Given the description of an element on the screen output the (x, y) to click on. 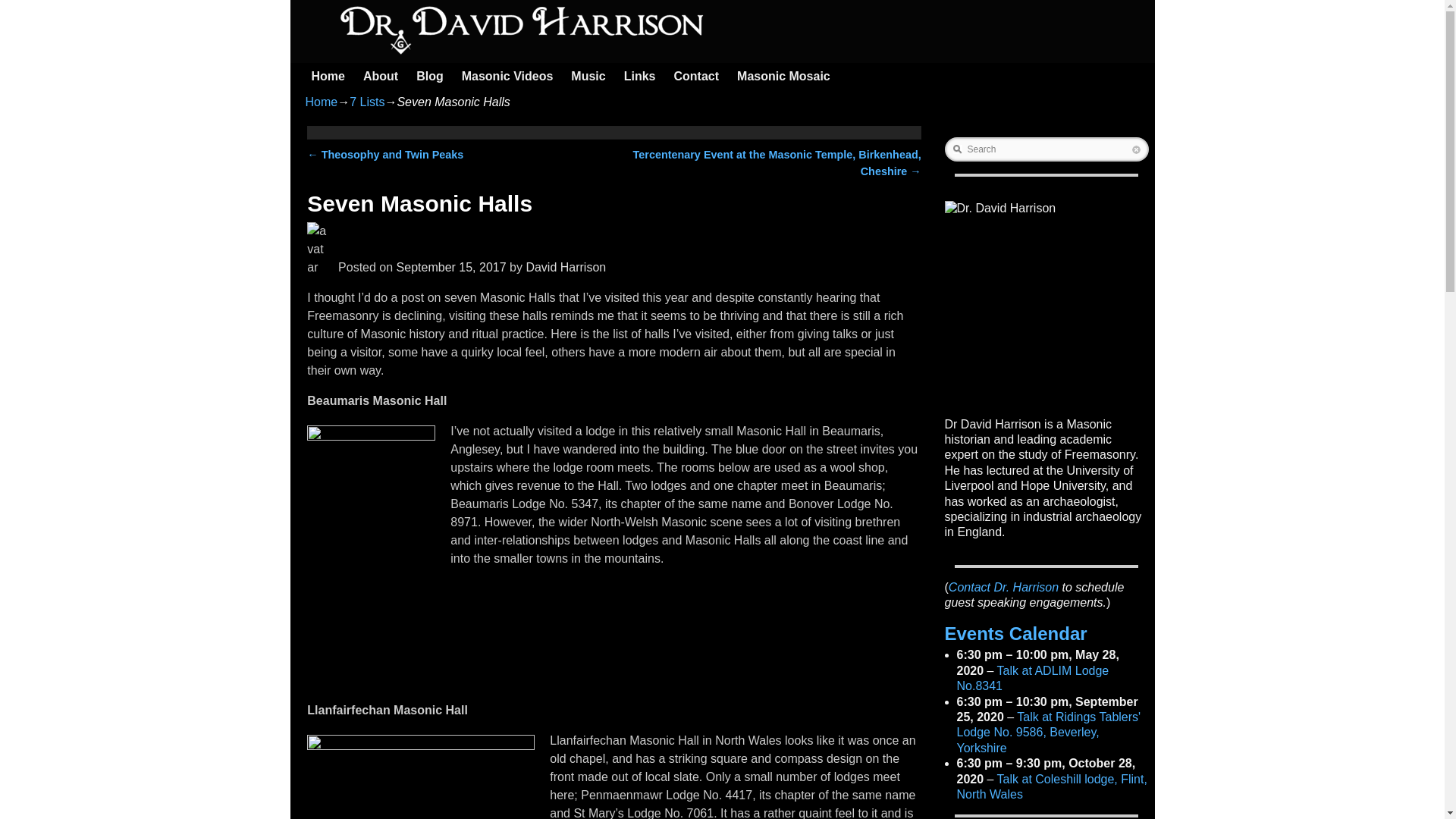
Home (327, 76)
Events Calendar (1015, 633)
Contact Dr. Harrison (1003, 586)
Talk at ADLIM Lodge No.8341 (1032, 678)
Masonic Mosaic (784, 76)
Music (588, 76)
Talk at Ridings Tablers' Lodge No. 9586, Beverley, Yorkshire (1048, 732)
Blog (429, 76)
View all posts by David Harrison (565, 267)
David Harrison (565, 267)
